Given the description of an element on the screen output the (x, y) to click on. 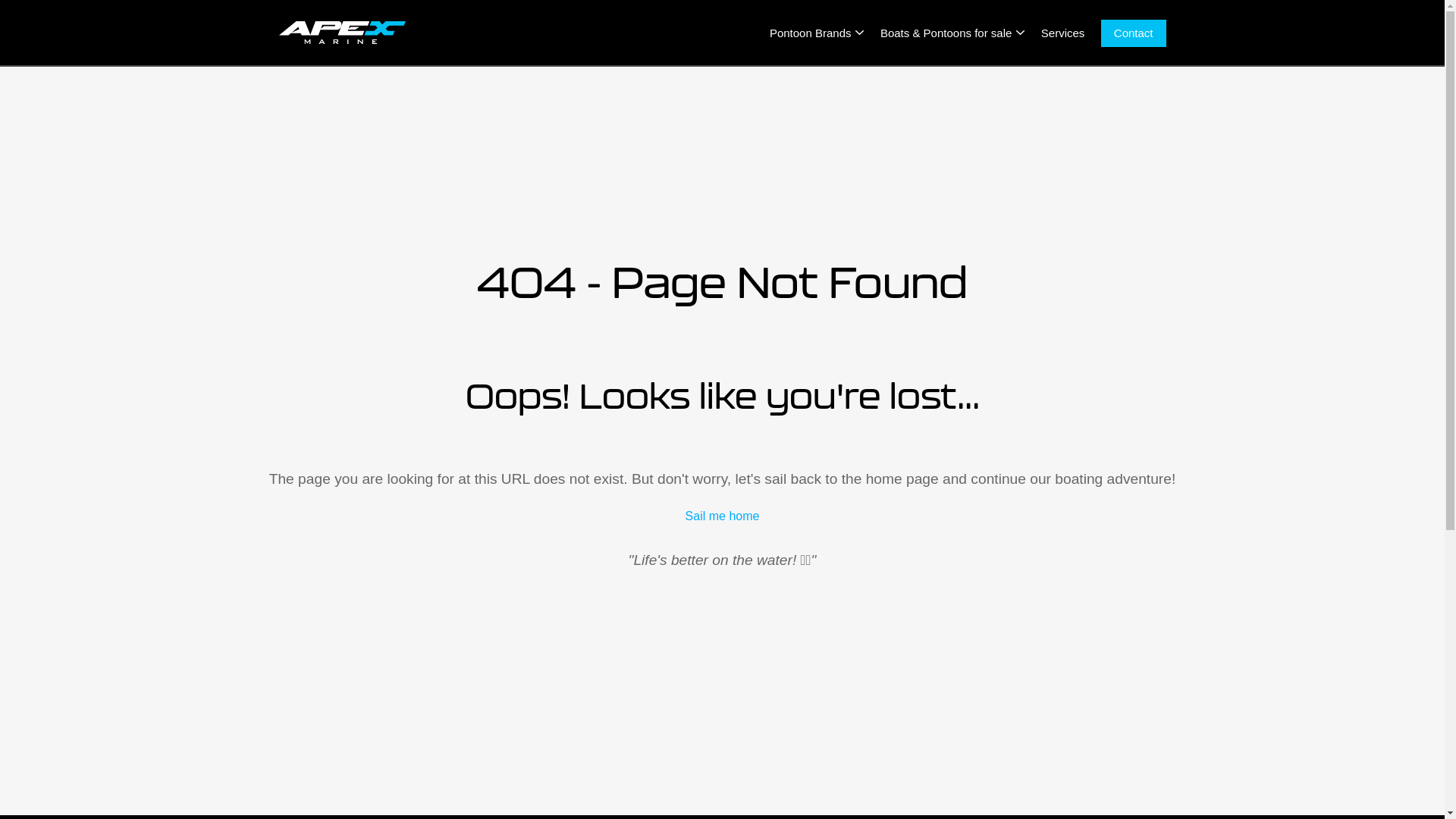
Sail me home Element type: text (722, 515)
Services Element type: text (1063, 32)
Contact Element type: text (1133, 33)
Pontoon Brands Element type: text (810, 32)
Logo Element type: hover (342, 32)
Boats & Pontoons for sale Element type: text (945, 32)
